Given the description of an element on the screen output the (x, y) to click on. 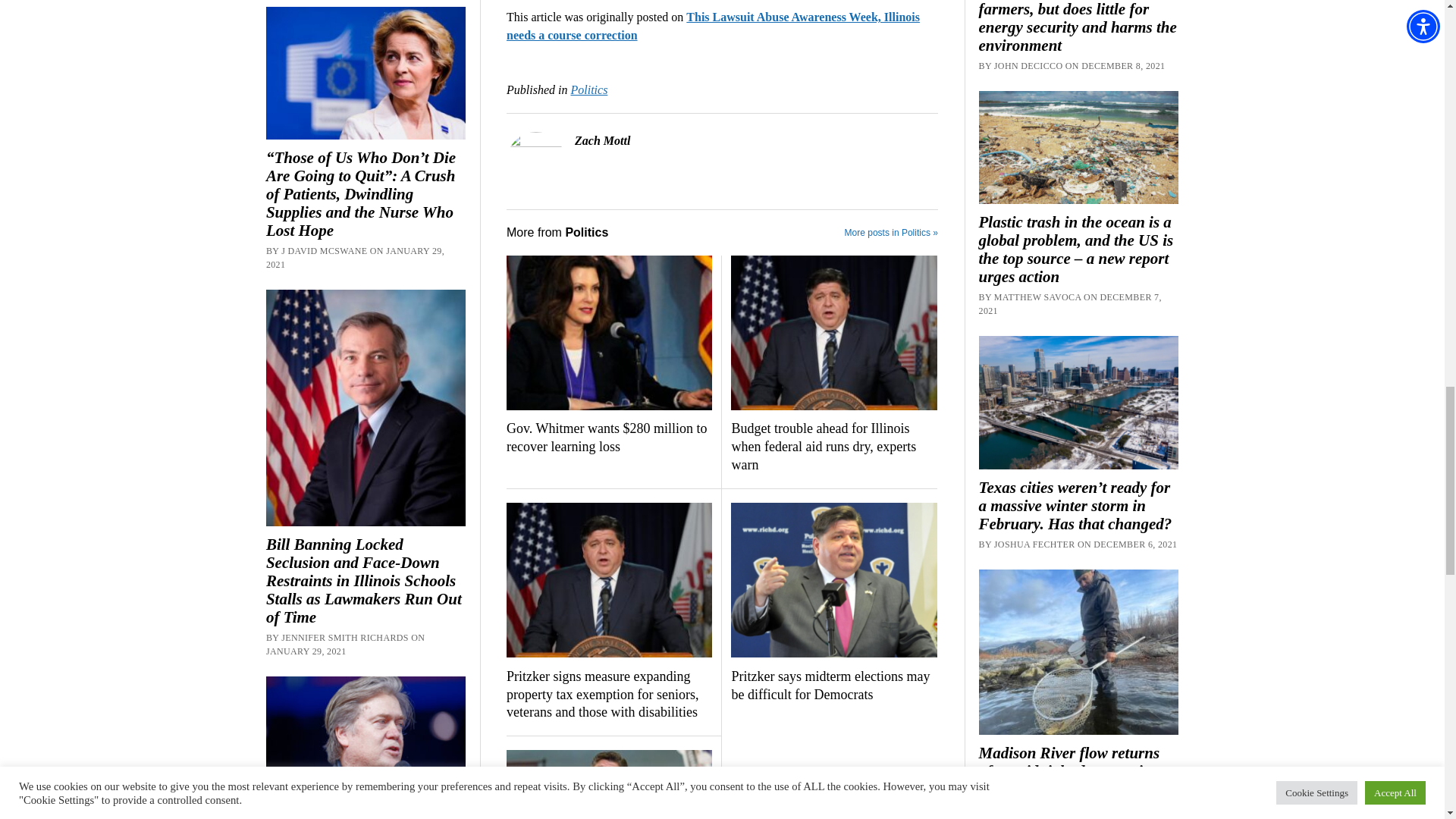
View all posts in Politics (588, 89)
